Given the description of an element on the screen output the (x, y) to click on. 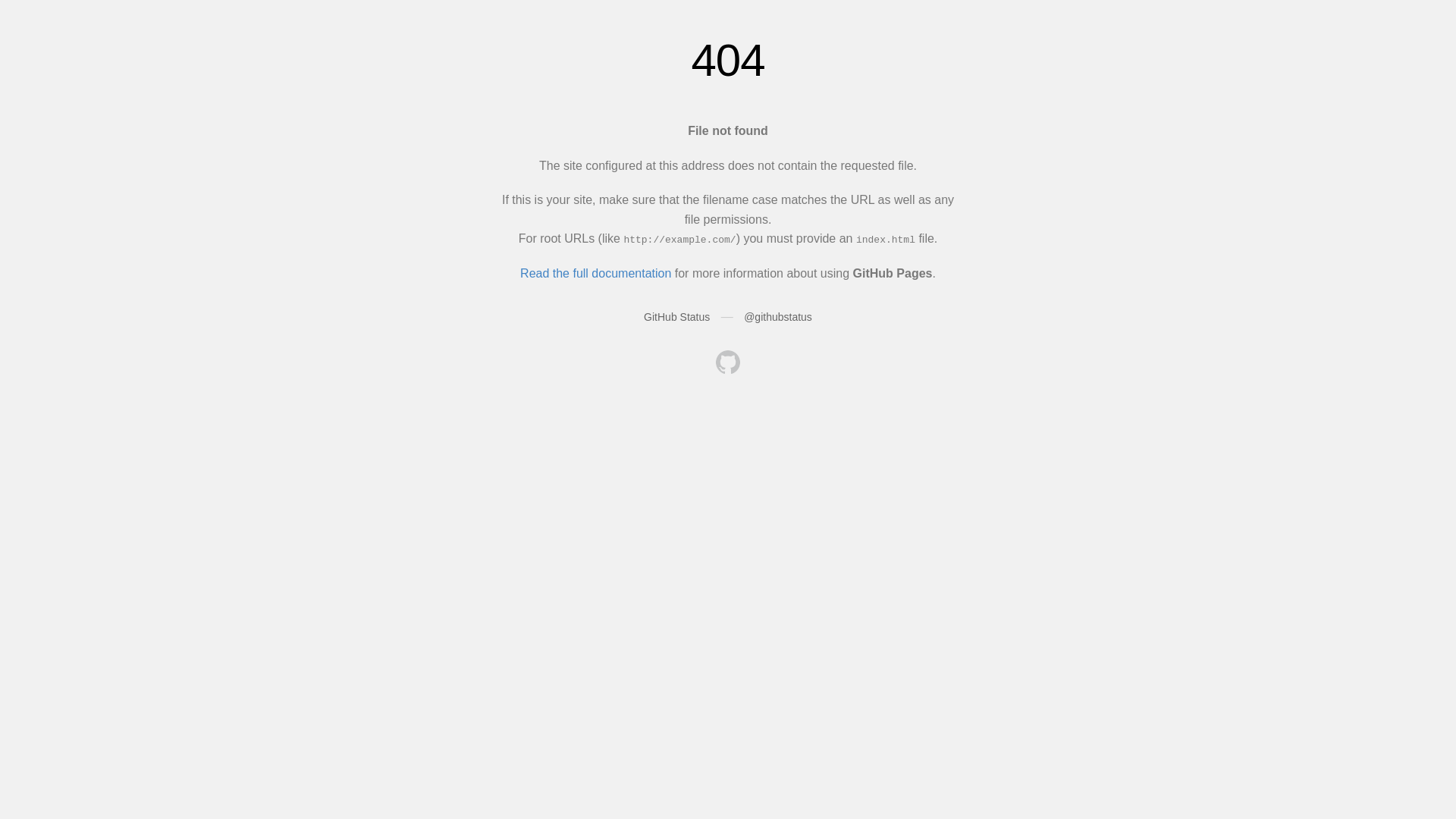
Read the full documentation Element type: text (595, 272)
GitHub Status Element type: text (676, 316)
@githubstatus Element type: text (777, 316)
